Given the description of an element on the screen output the (x, y) to click on. 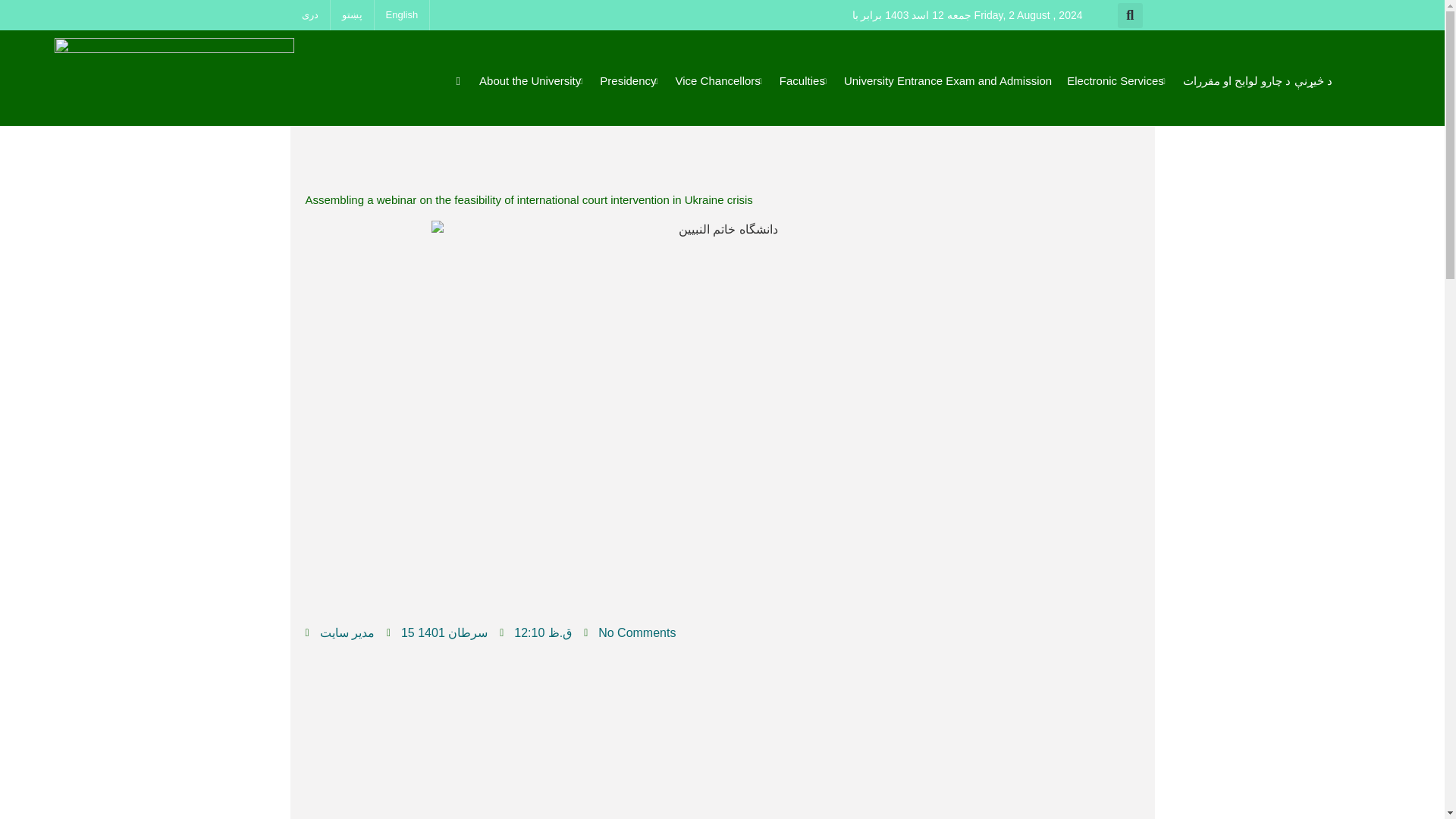
Presidency (629, 80)
English (402, 15)
Faculties (804, 80)
Vice Chancellors (719, 80)
Electronic Services (1117, 80)
About the University (531, 80)
University Entrance Exam and Admission (947, 80)
